Given the description of an element on the screen output the (x, y) to click on. 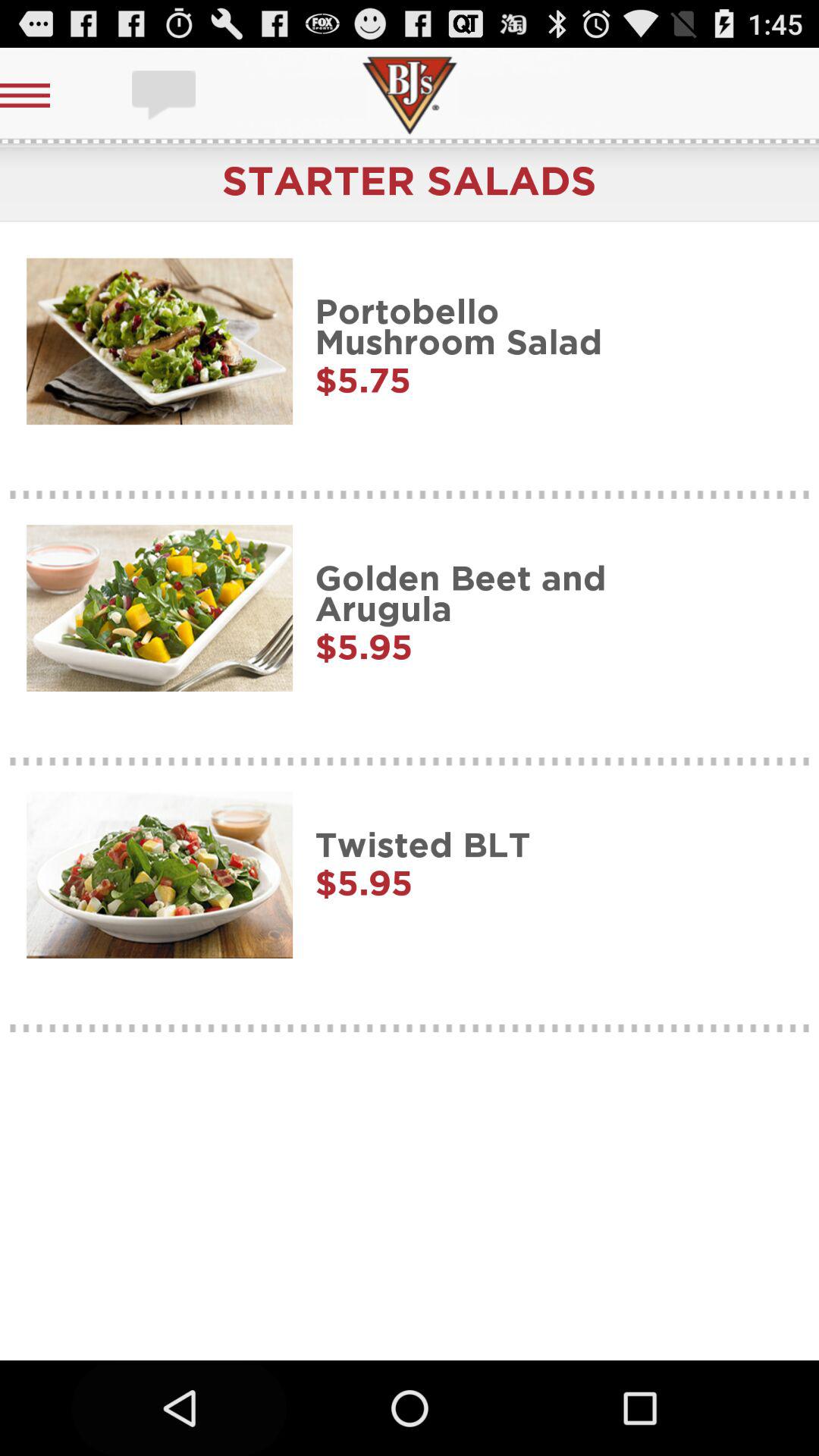
open chat (165, 95)
